Given the description of an element on the screen output the (x, y) to click on. 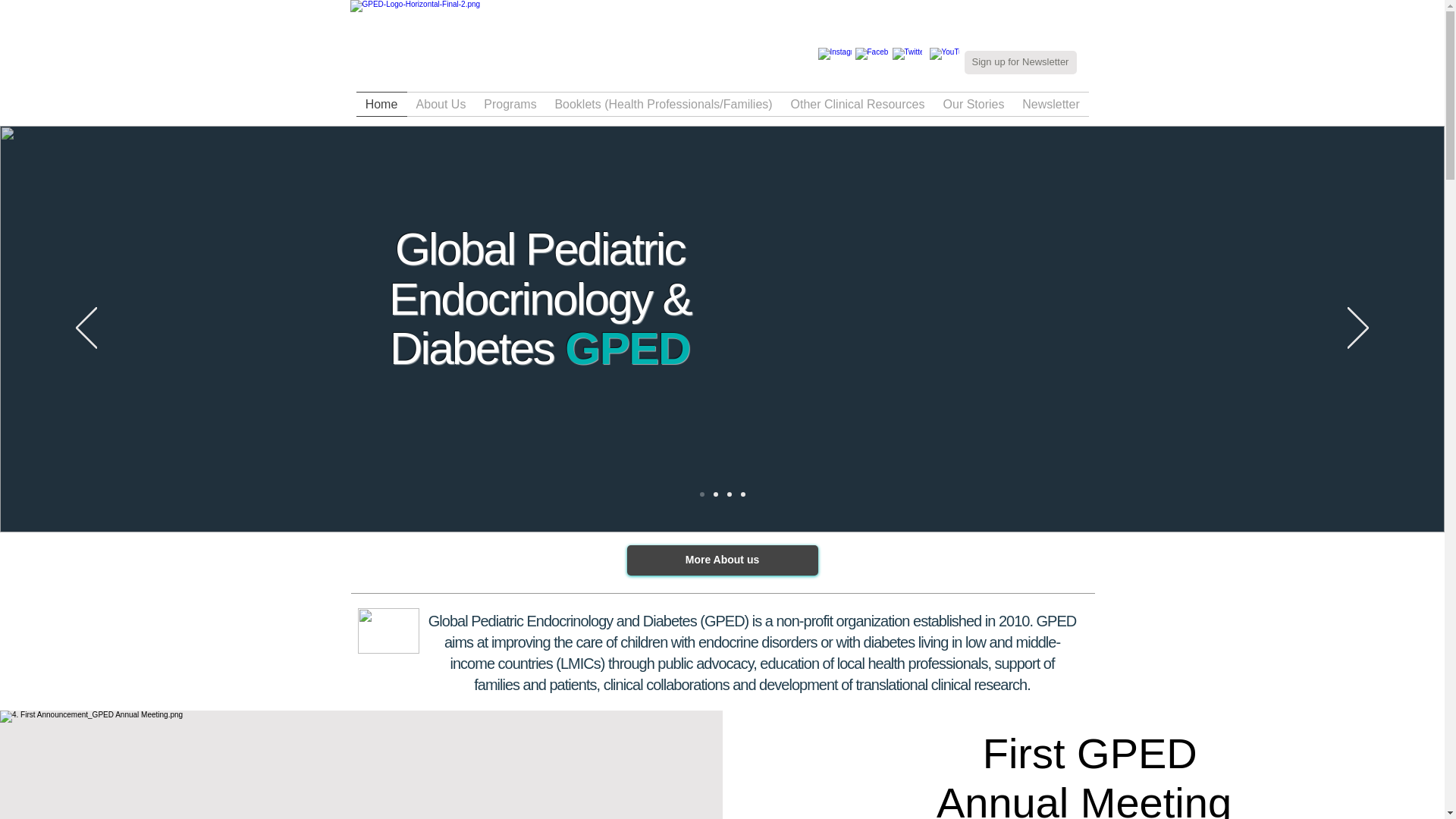
Sign up for Newsletter (1020, 62)
Home (381, 104)
More About us (721, 560)
Programs (509, 104)
Other Clinical Resources (856, 104)
Newsletter (1050, 104)
About Us (440, 104)
Our Stories (973, 104)
